Given the description of an element on the screen output the (x, y) to click on. 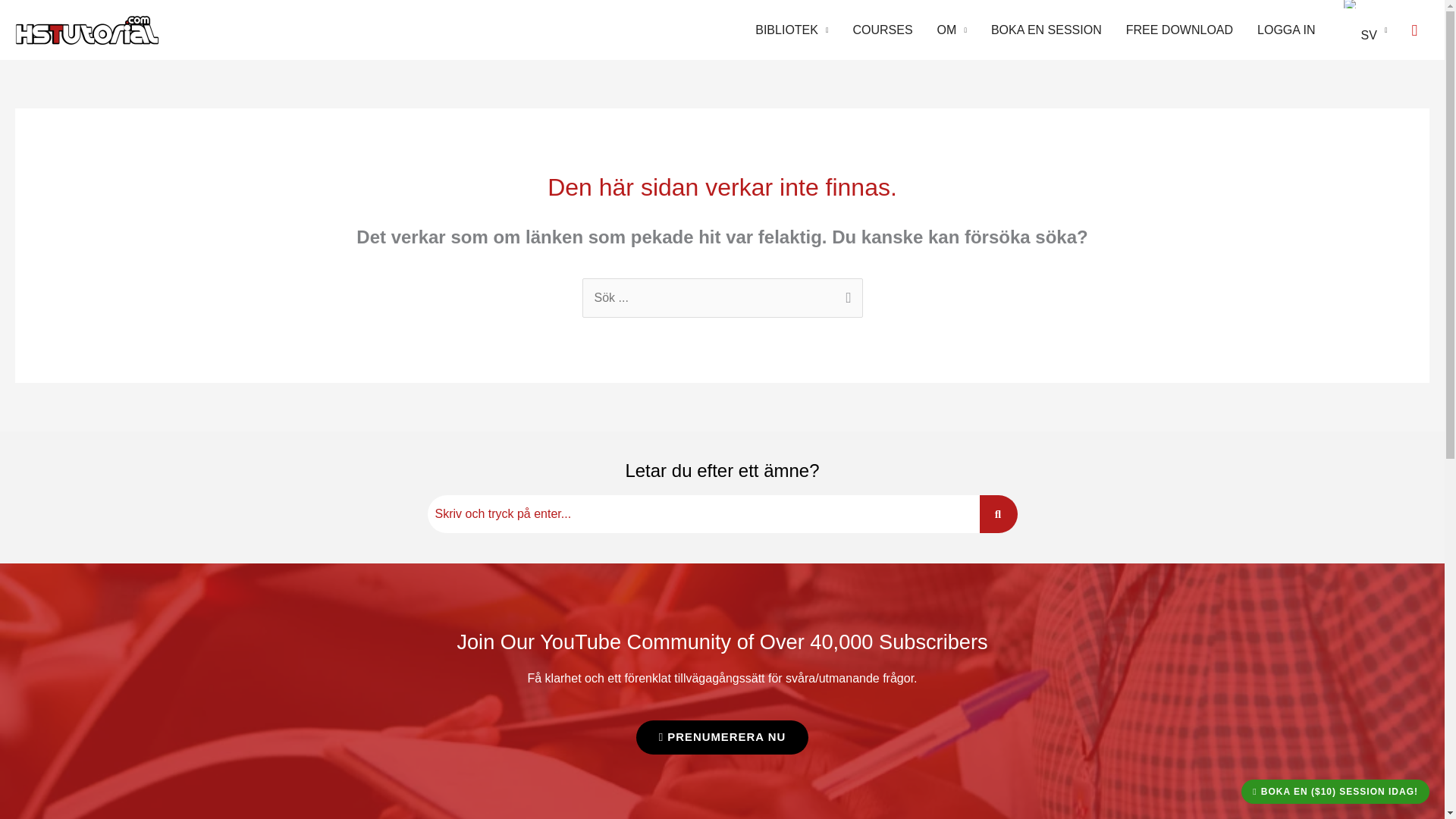
BIBLIOTEK (791, 29)
BOKA EN SESSION (1045, 29)
OM (951, 29)
FREE DOWNLOAD (1178, 29)
Swedish (1349, 4)
COURSES (882, 29)
LOGGA IN (1285, 29)
SV (1363, 29)
PRENUMERERA NU (722, 737)
